Given the description of an element on the screen output the (x, y) to click on. 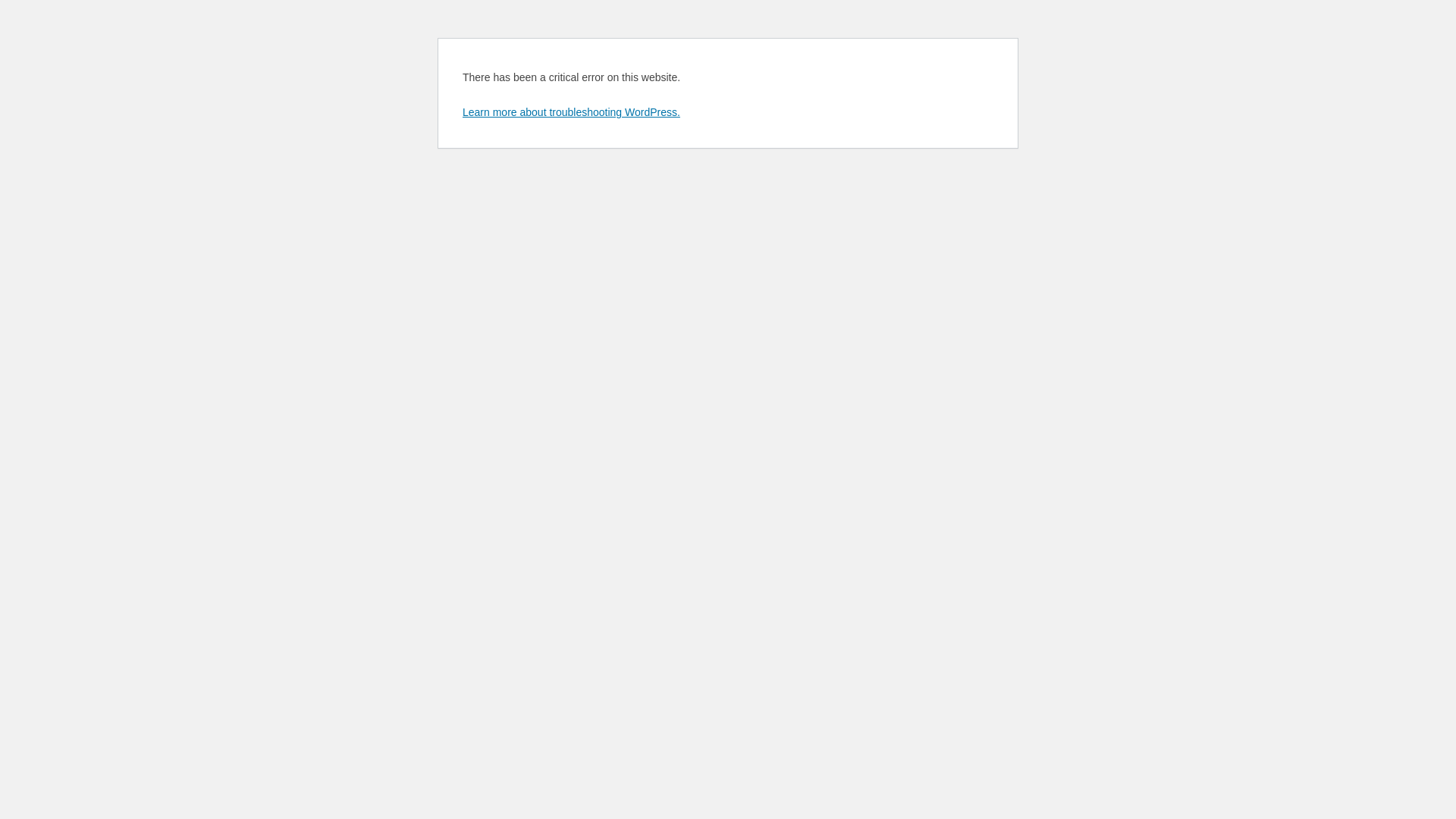
Learn more about troubleshooting WordPress. Element type: text (571, 112)
